Given the description of an element on the screen output the (x, y) to click on. 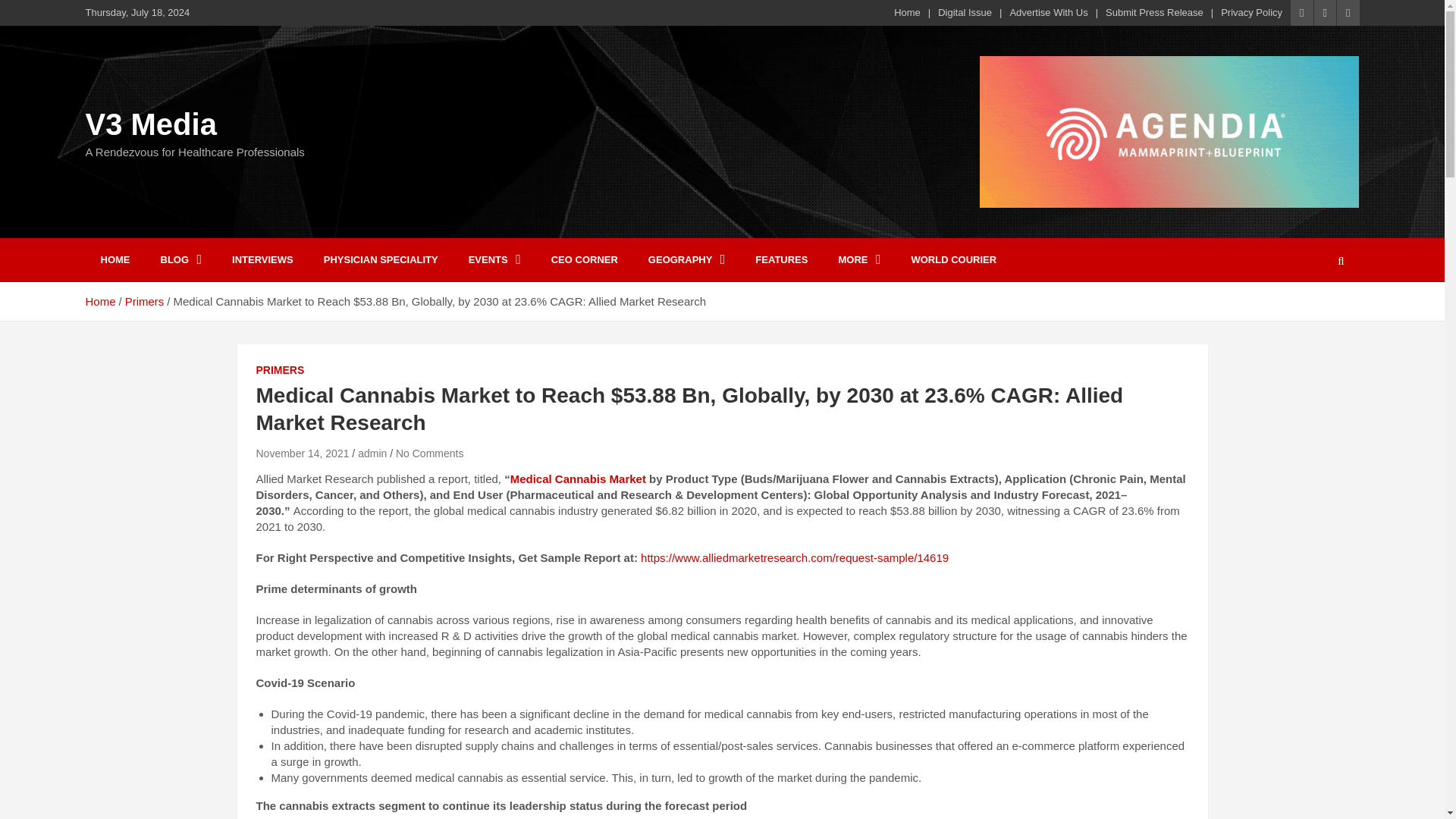
Home (906, 12)
BLOG (180, 259)
INTERVIEWS (262, 259)
Privacy Policy (1251, 12)
HOME (114, 259)
GEOGRAPHY (687, 259)
November 14, 2021 (302, 453)
PRIMERS (280, 370)
No Comments (429, 453)
admin (372, 453)
Primers (144, 300)
Advertise With Us (1048, 12)
EVENTS (493, 259)
MORE (858, 259)
Home (99, 300)
